Given the description of an element on the screen output the (x, y) to click on. 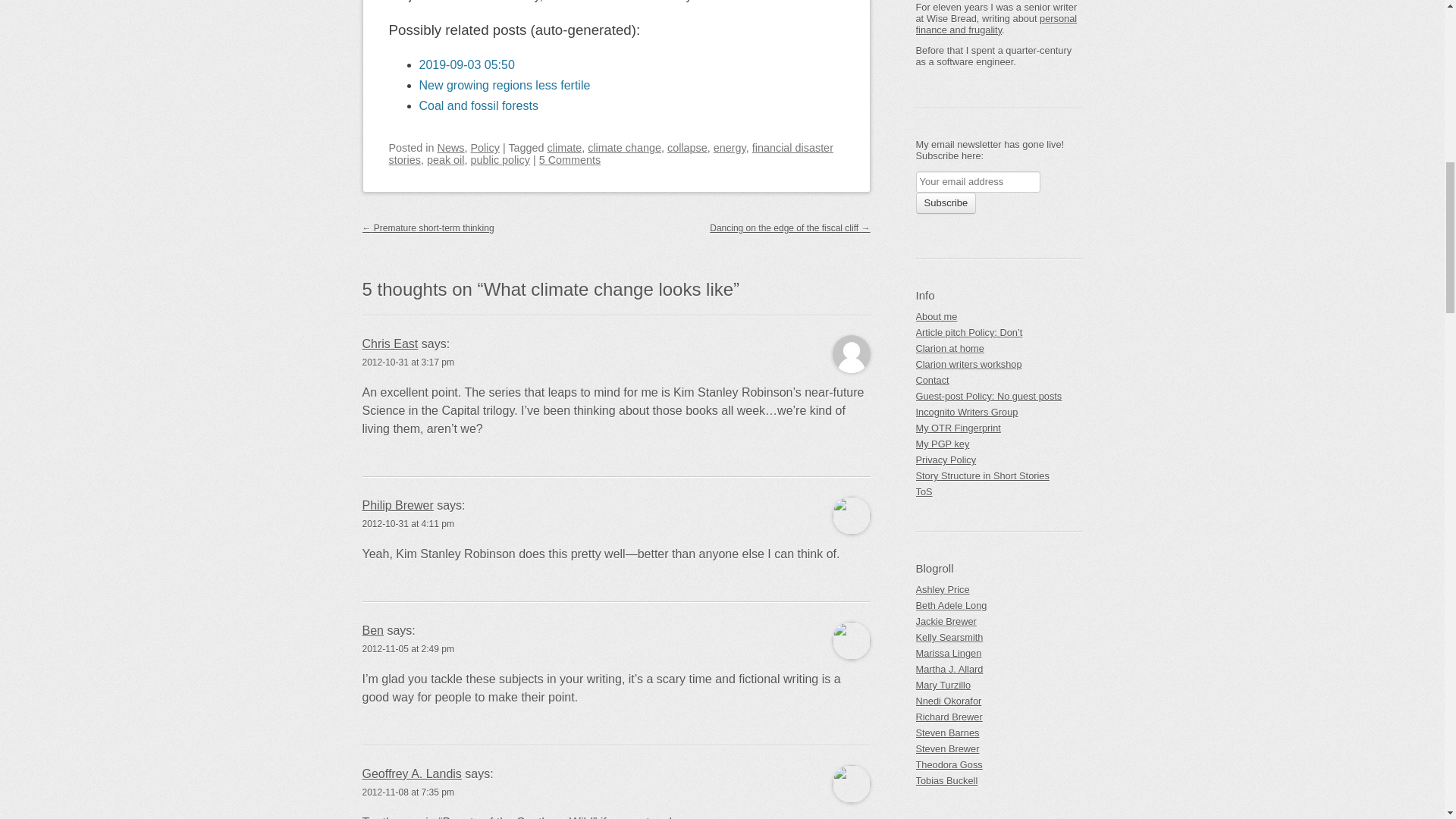
Geoffrey A. Landis (411, 773)
energy (729, 147)
financial disaster stories (610, 153)
Subscribe (945, 202)
2012-11-08 at 7:35 pm (408, 792)
5 Comments (569, 159)
climate (564, 147)
Coal and fossil forests (478, 105)
Ben (373, 630)
climate change (624, 147)
Coal and fossil forests (478, 105)
New growing regions less fertile (504, 84)
Chris East (390, 343)
2012-11-05 at 2:49 pm (408, 648)
public policy (499, 159)
